Given the description of an element on the screen output the (x, y) to click on. 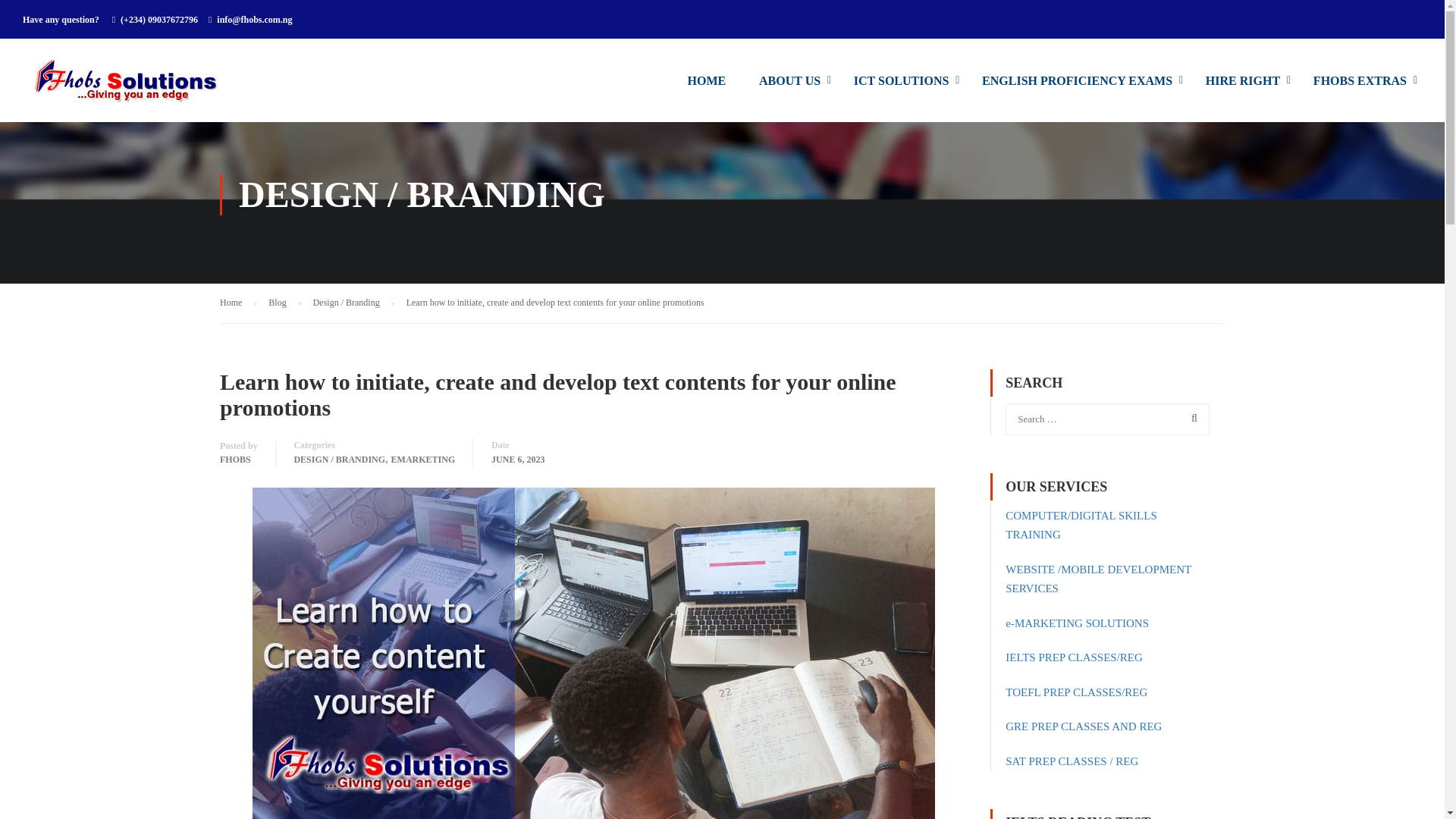
Fhobs Solutions - ...Giving you an edge (136, 87)
ICT SOLUTIONS (900, 87)
Blog (284, 302)
Search (1190, 418)
ABOUT US (789, 87)
Home (238, 302)
HOME (706, 87)
Search (1190, 418)
